Given the description of an element on the screen output the (x, y) to click on. 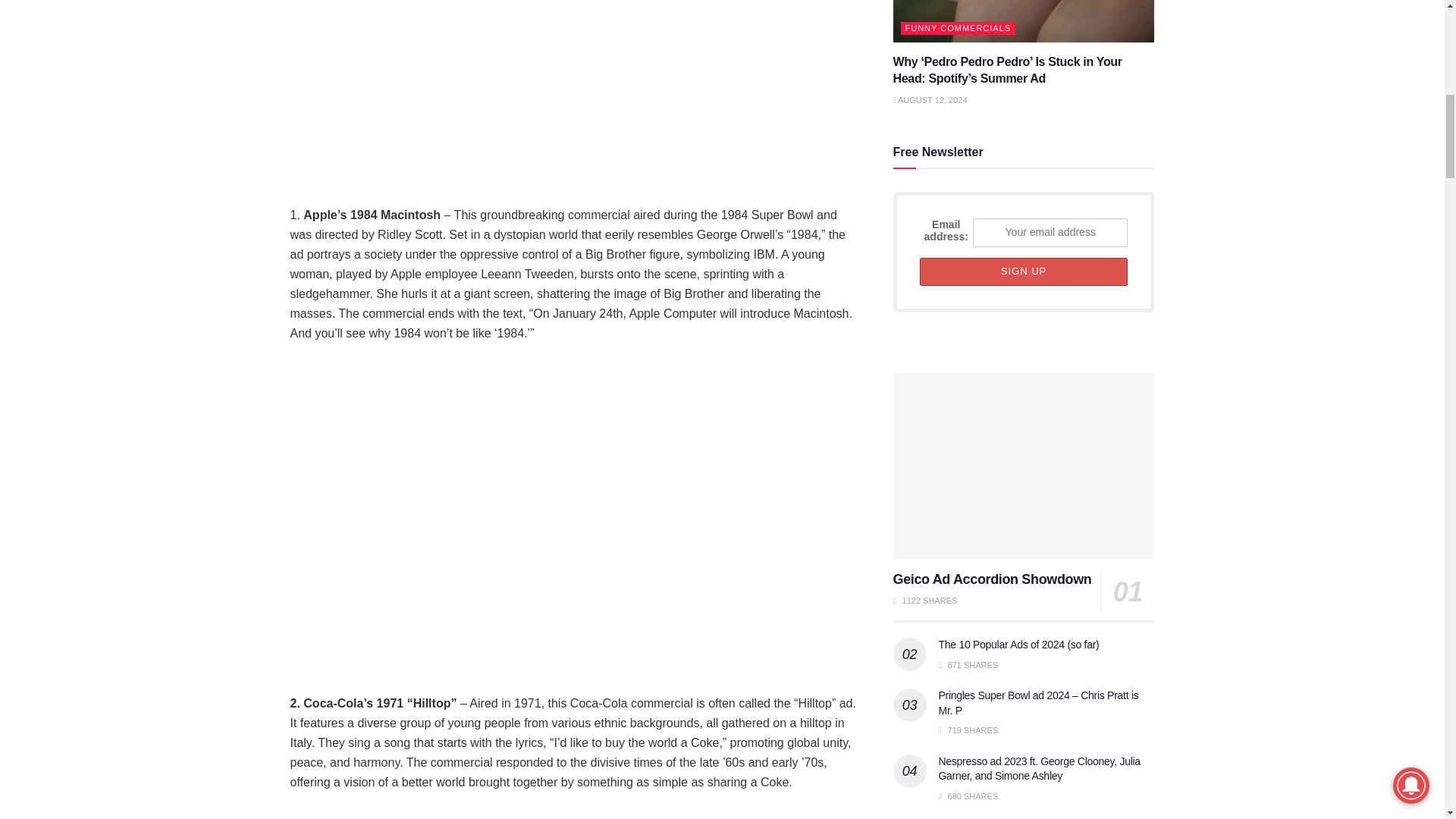
Sign up (1022, 271)
